Given the description of an element on the screen output the (x, y) to click on. 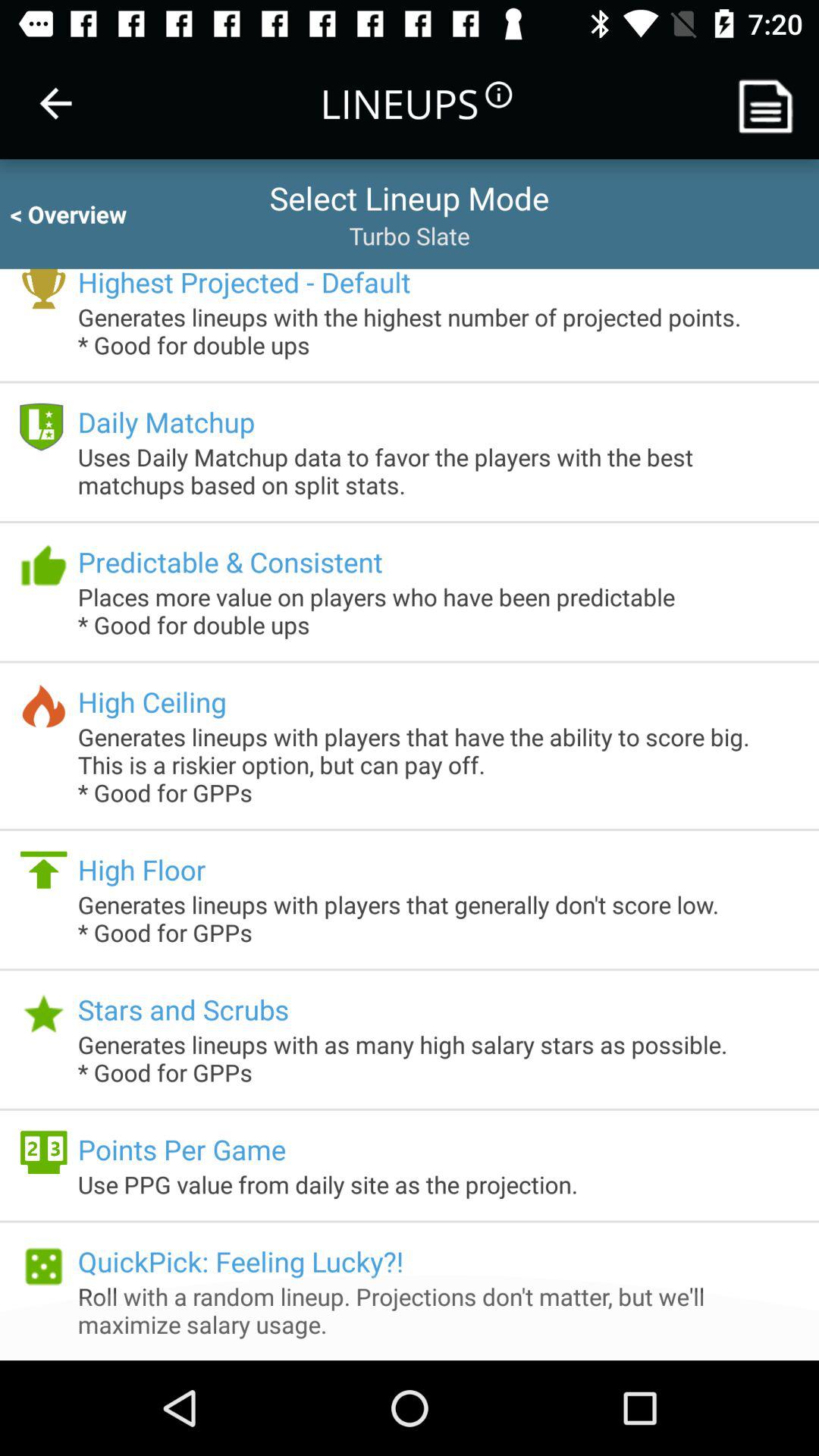
choose item to the left of the lineups (55, 103)
